Given the description of an element on the screen output the (x, y) to click on. 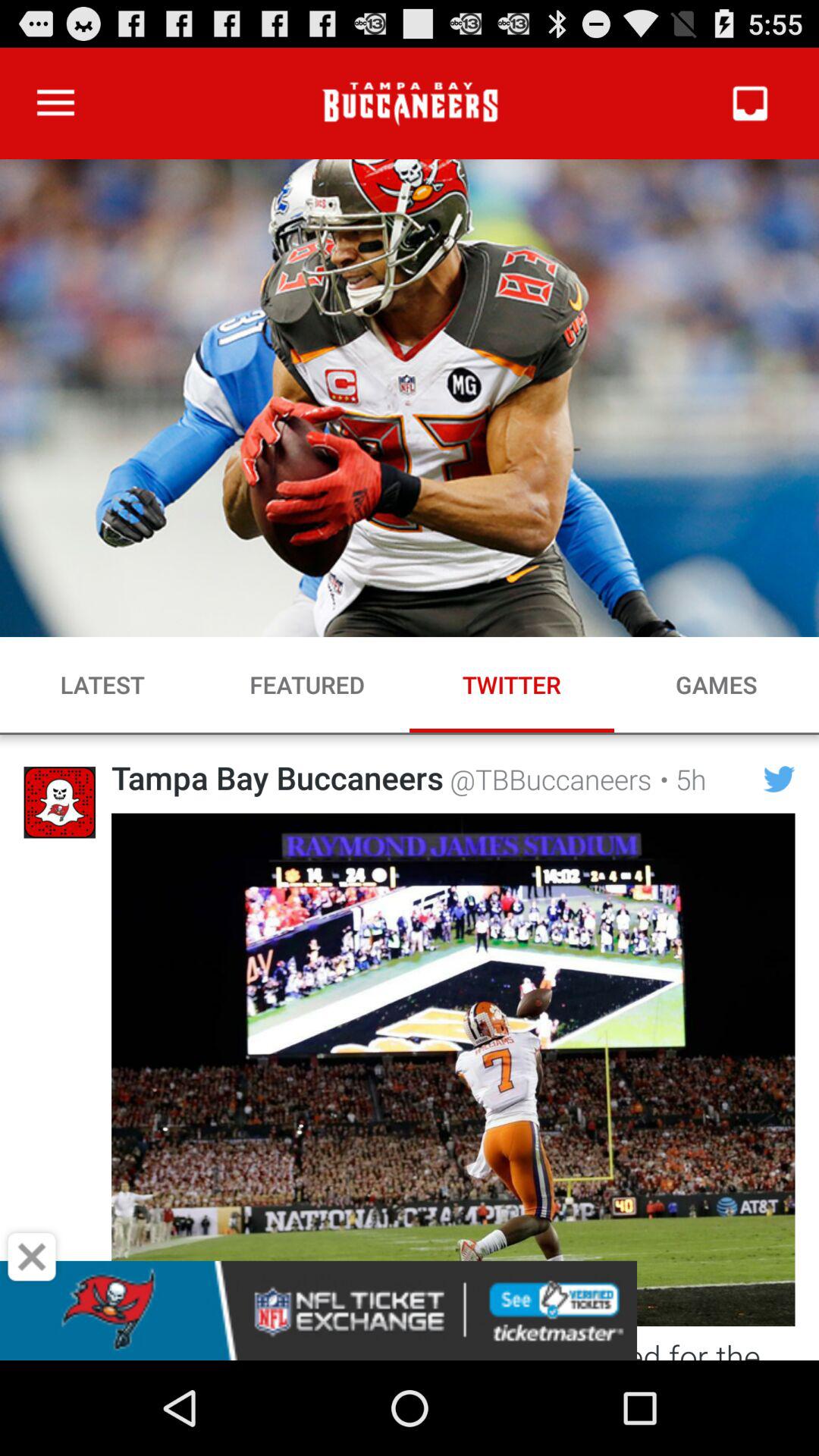
close add (31, 1256)
